Given the description of an element on the screen output the (x, y) to click on. 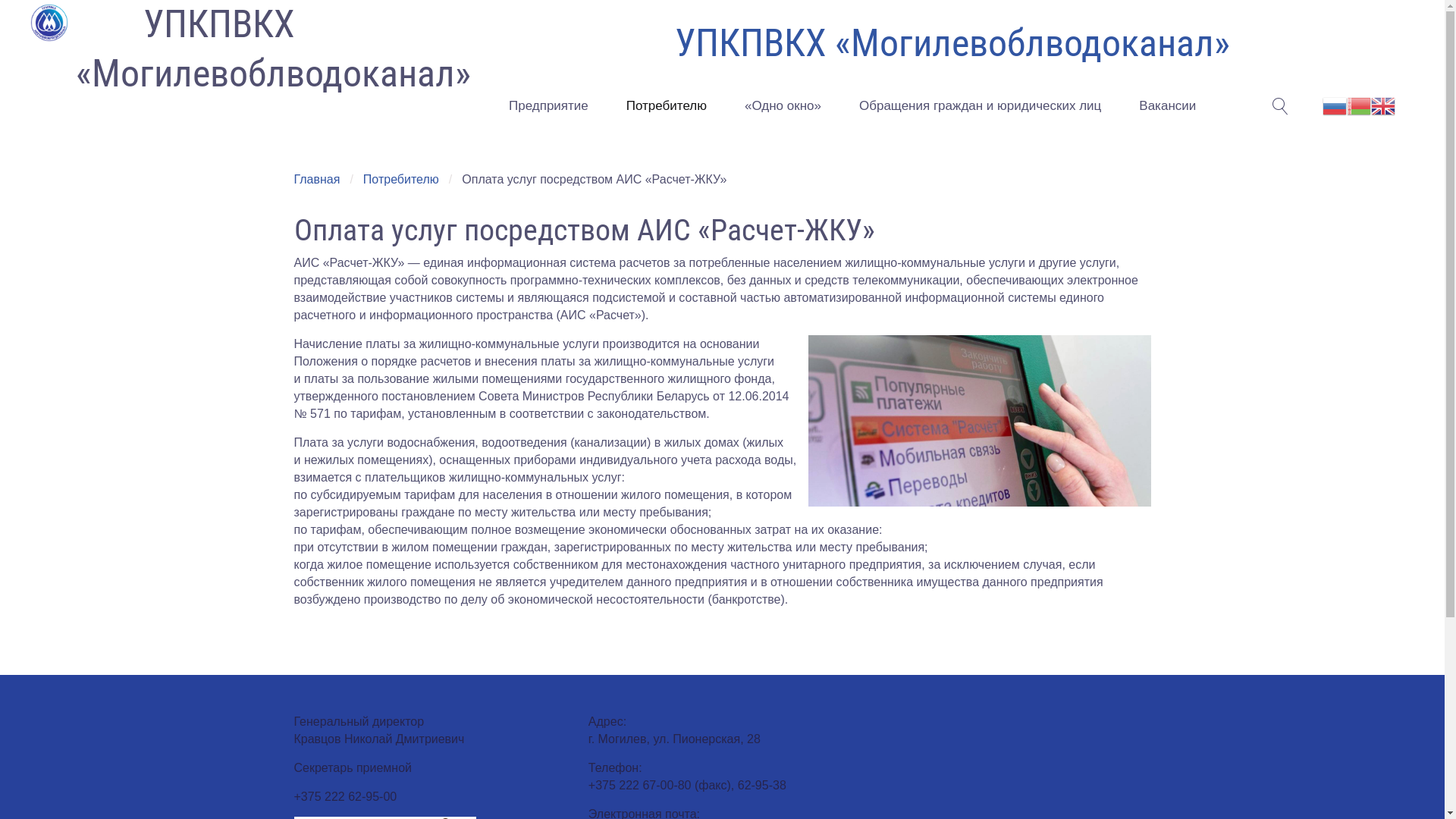
Belarusian Element type: hover (1358, 104)
English Element type: hover (1383, 104)
Russian Element type: hover (1334, 104)
